Given the description of an element on the screen output the (x, y) to click on. 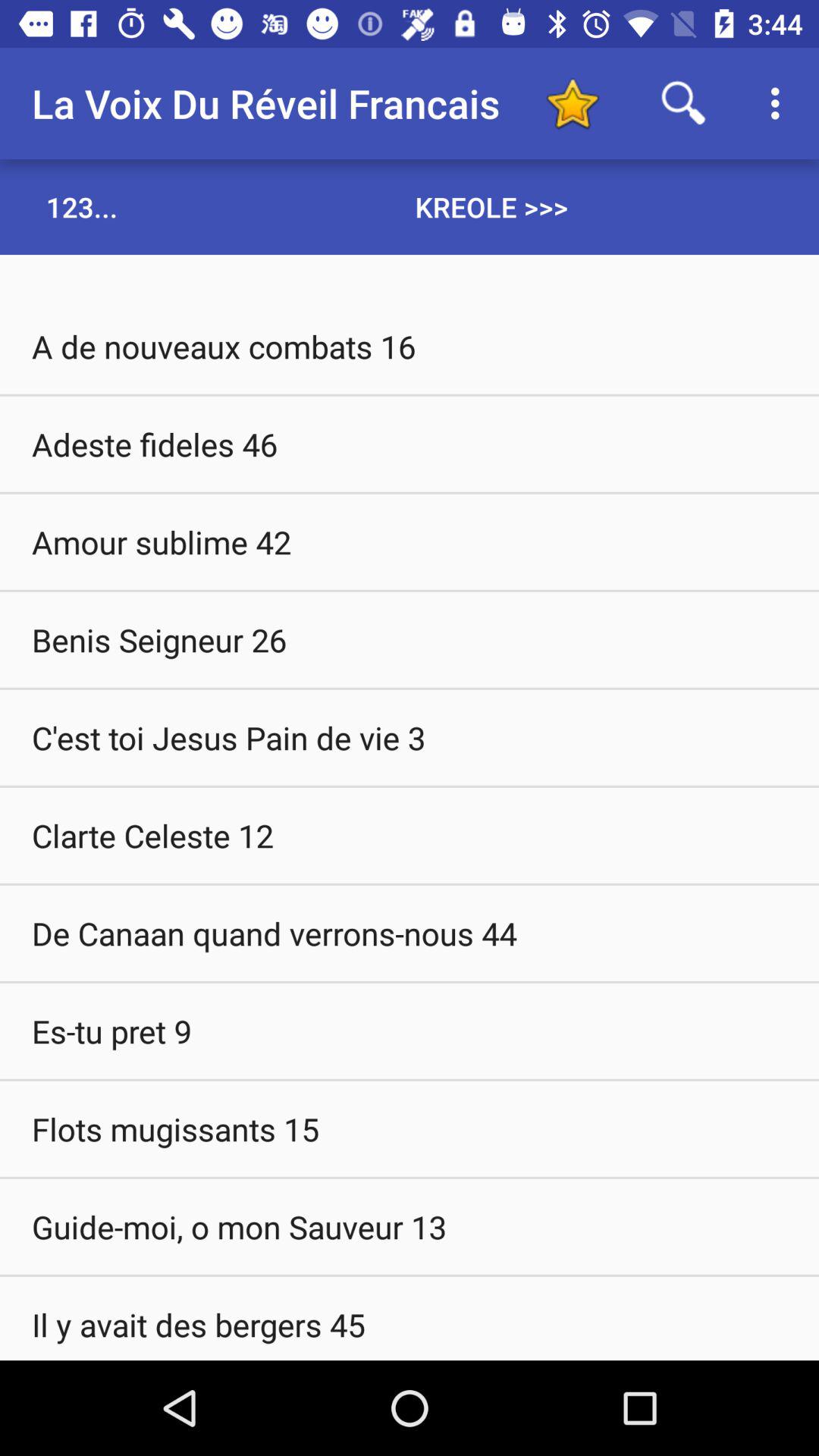
add to faavourite (571, 103)
